Given the description of an element on the screen output the (x, y) to click on. 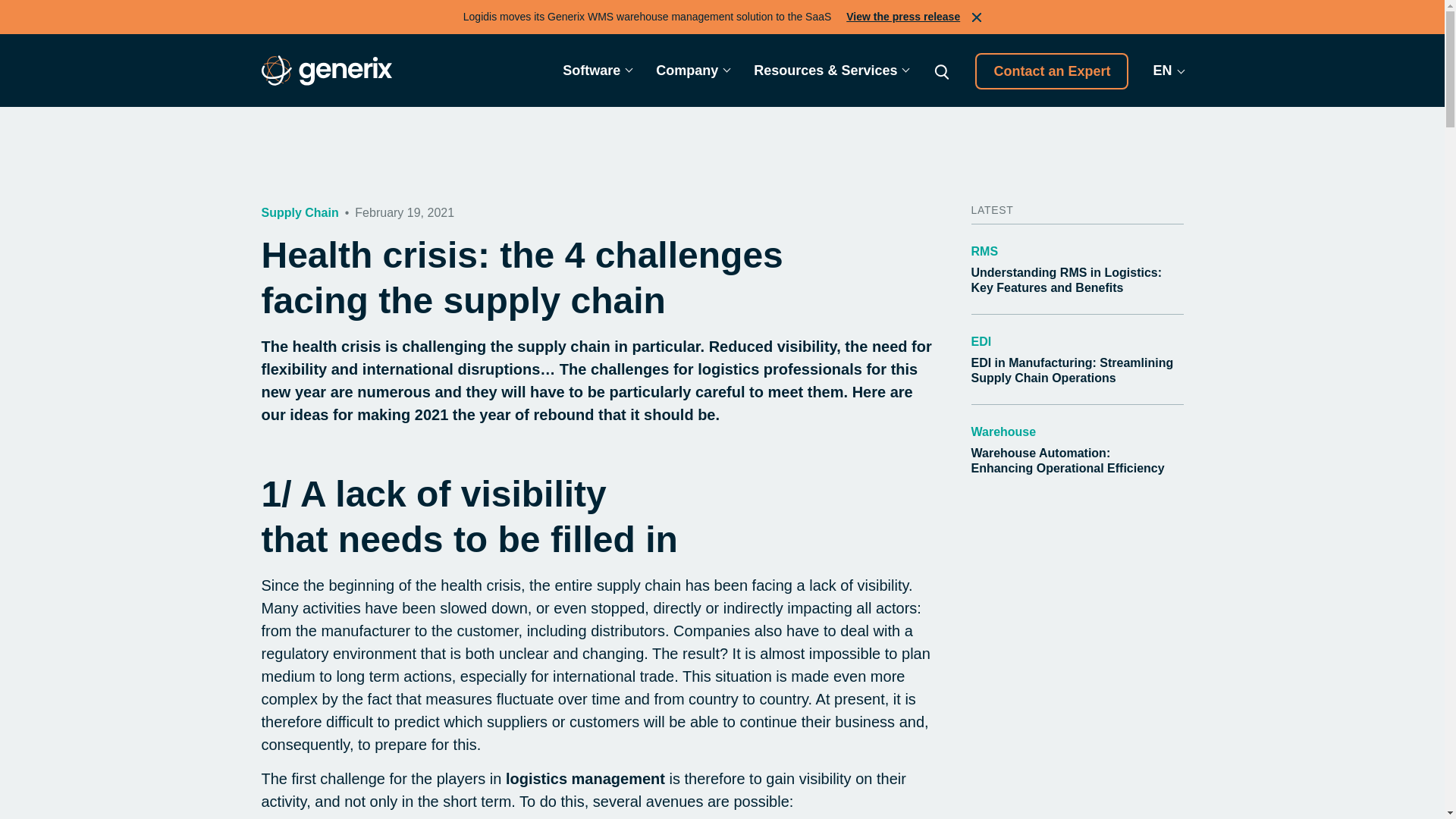
View the press release (902, 16)
Close (976, 16)
Understanding RMS in Logistics: Key Features and Benefits (1066, 279)
Contact an Expert (1051, 71)
